Given the description of an element on the screen output the (x, y) to click on. 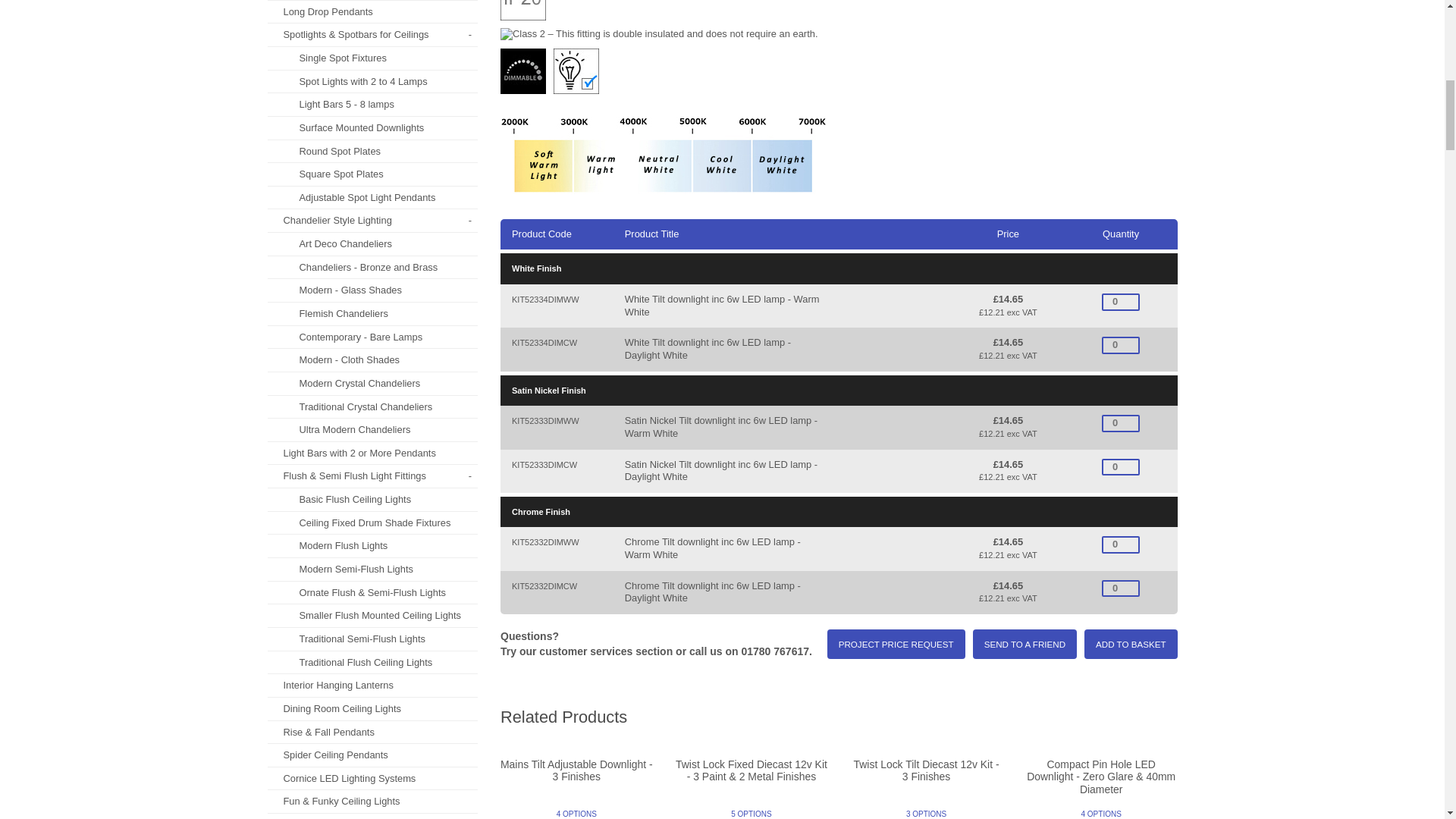
Add To Basket (1130, 644)
Send to a Friend (1024, 644)
Bulbs Included (575, 71)
Project Price Request (896, 644)
Offers no protection from splashed or sprayed water (523, 10)
